Given the description of an element on the screen output the (x, y) to click on. 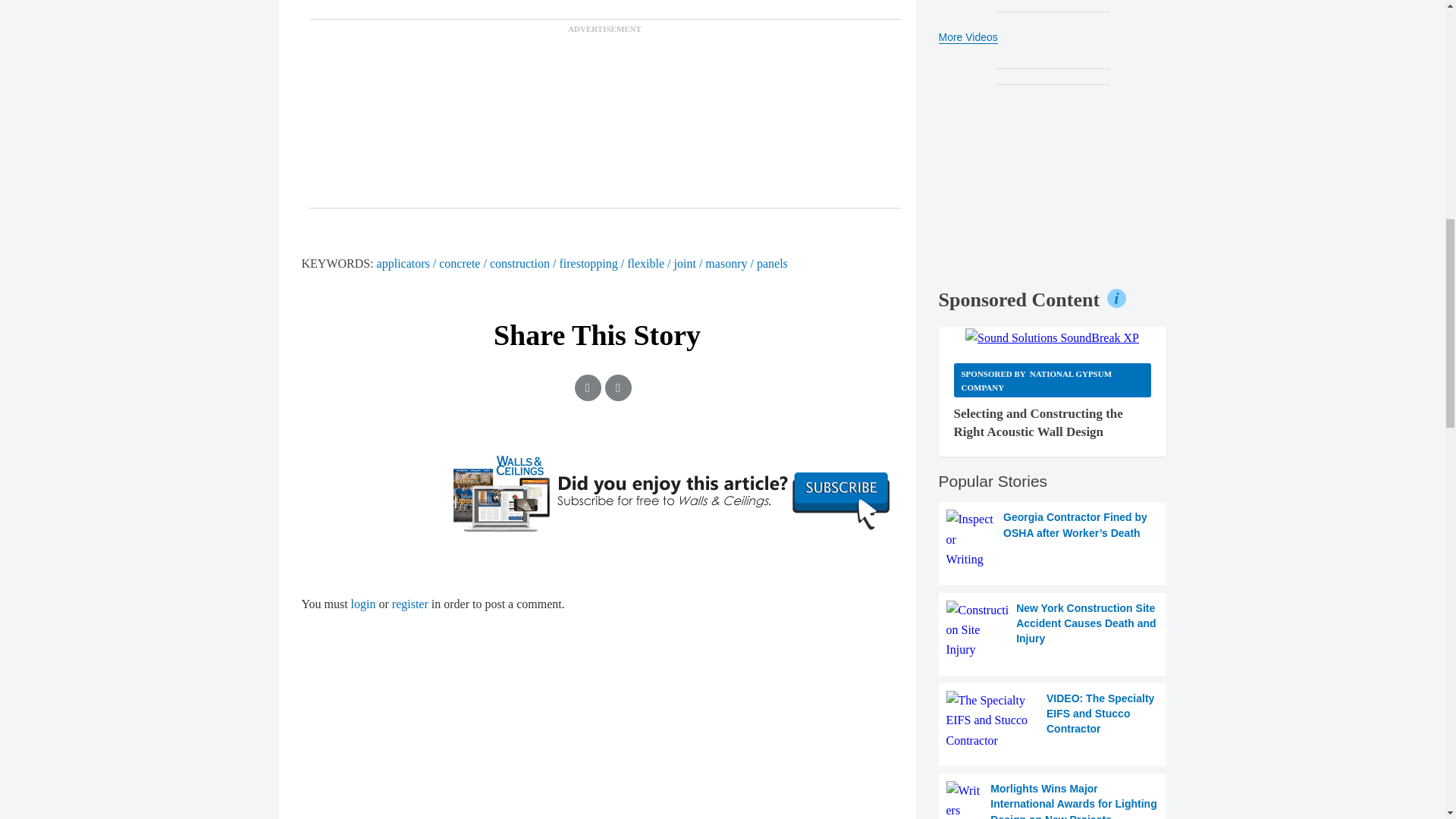
Sponsored by National Gypsum Company (1052, 380)
New York Construction Site Accident Causes Death and Injury (1052, 630)
VIDEO: The Specialty EIFS and Stucco Contractor (1052, 721)
Sound Solutions SoundBreak XP (1051, 338)
